Given the description of an element on the screen output the (x, y) to click on. 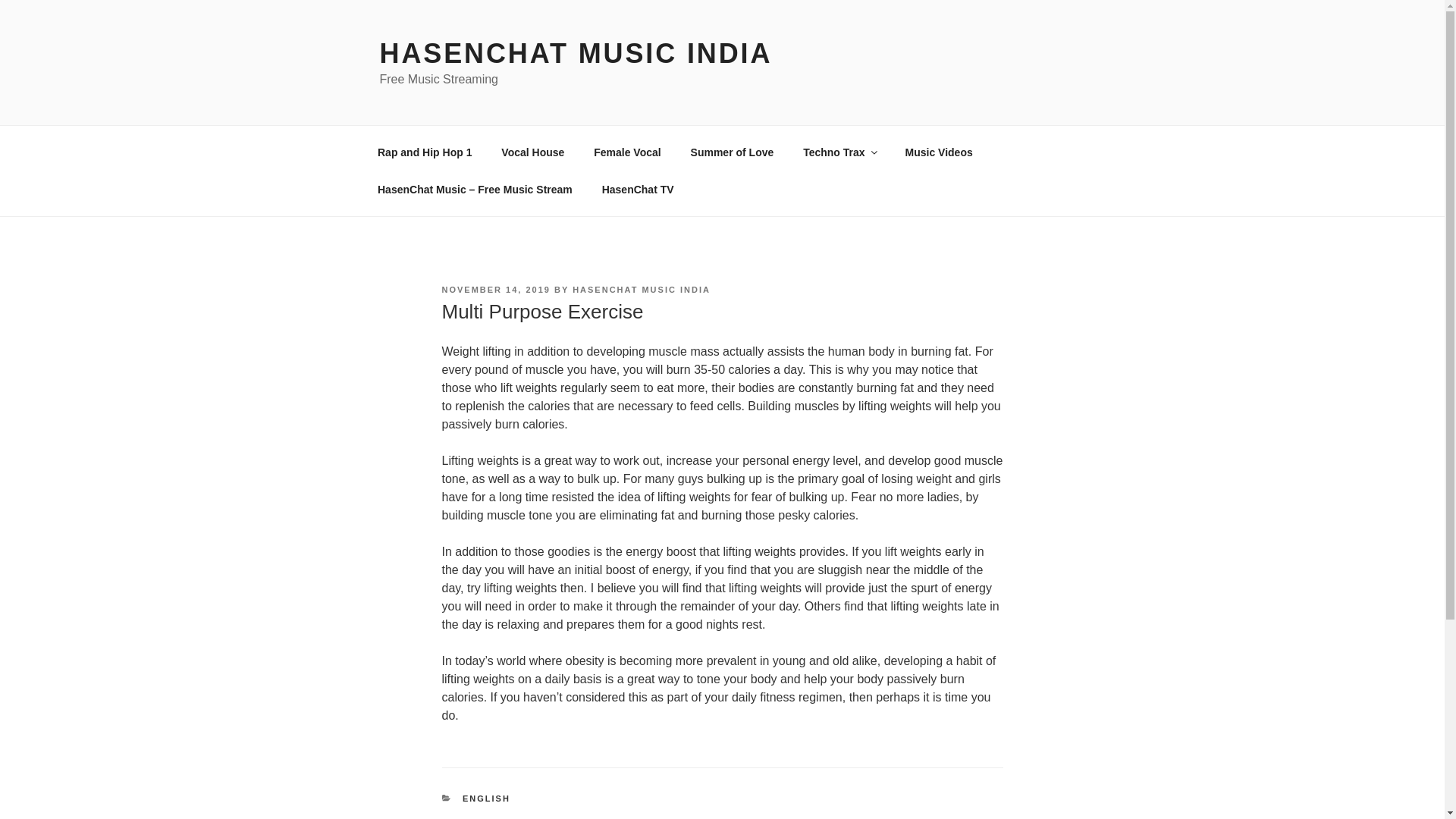
Vocal House (532, 151)
ENGLISH (487, 798)
HasenChat TV (637, 189)
Summer of Love (732, 151)
NOVEMBER 14, 2019 (495, 289)
Music Videos (938, 151)
HASENCHAT MUSIC INDIA (641, 289)
Rap and Hip Hop 1 (424, 151)
Female Vocal (627, 151)
HASENCHAT MUSIC INDIA (574, 52)
Techno Trax (839, 151)
